Given the description of an element on the screen output the (x, y) to click on. 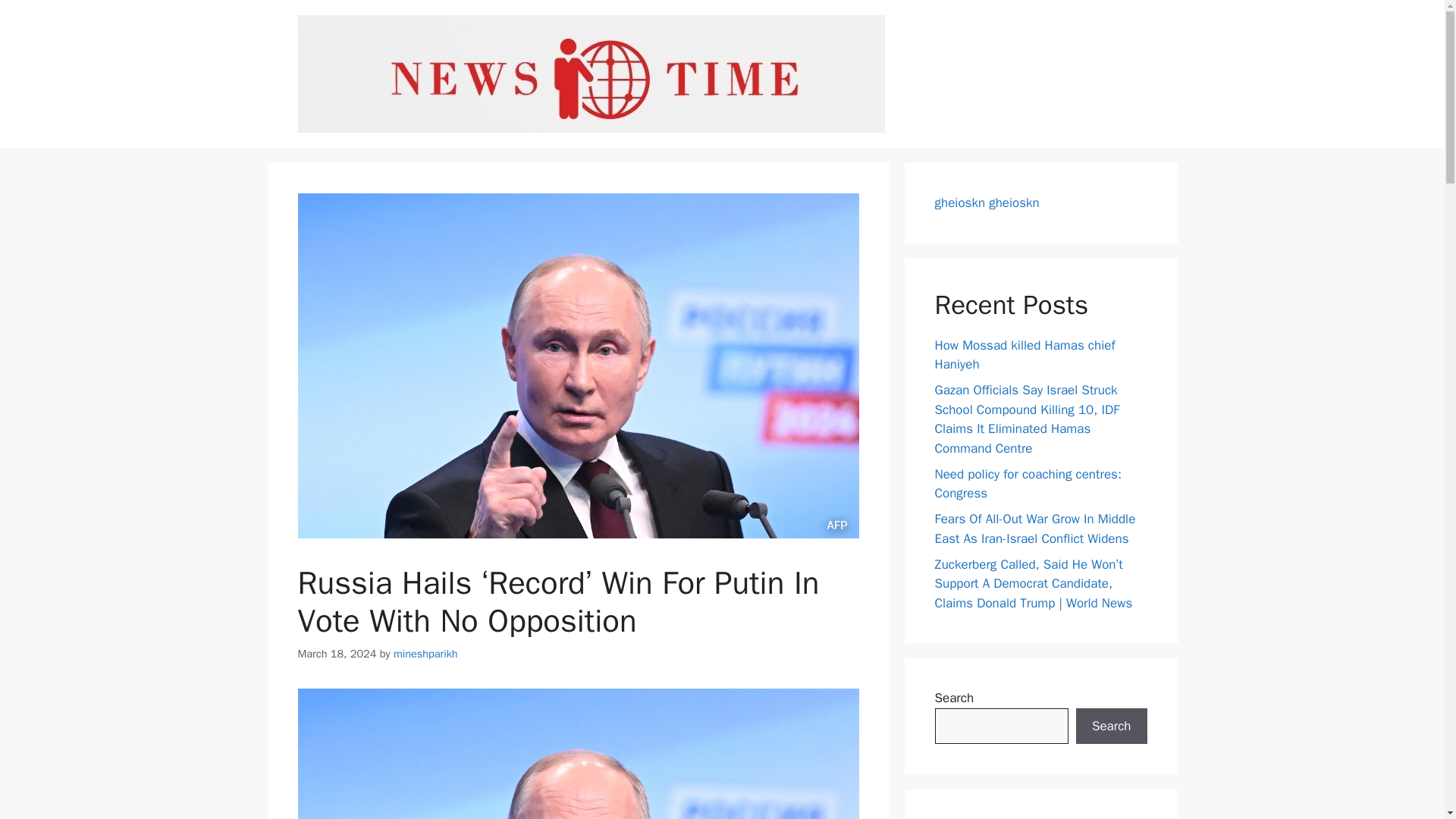
gheioskn (959, 202)
View all posts by mineshparikh (425, 653)
Search (1111, 726)
mineshparikh (425, 653)
gheioskn (1013, 202)
How Mossad killed Hamas chief Haniyeh (1024, 354)
Need policy for coaching centres: Congress (1027, 483)
